Given the description of an element on the screen output the (x, y) to click on. 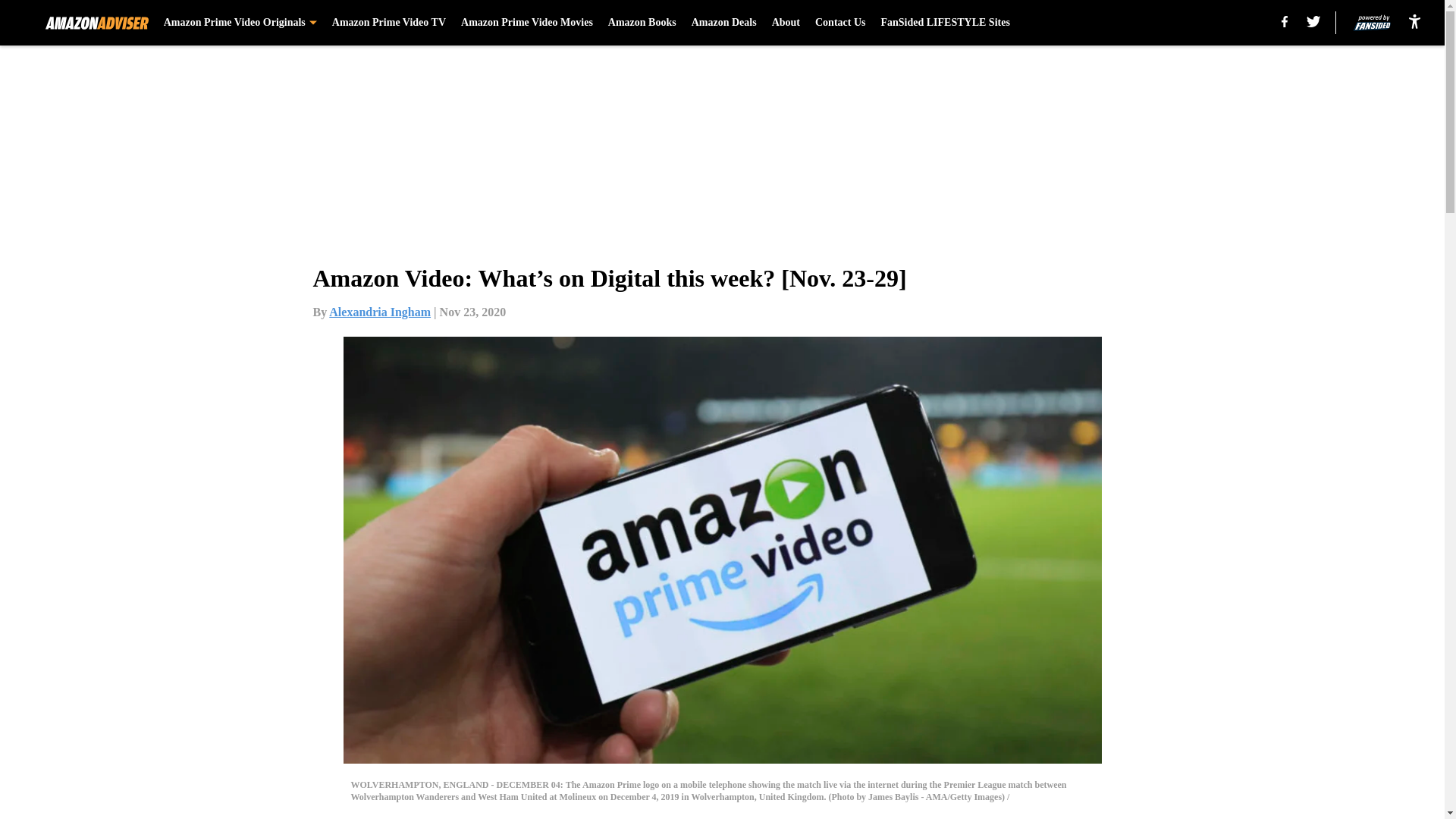
Alexandria Ingham (379, 311)
FanSided LIFESTYLE Sites (944, 22)
Amazon Books (642, 22)
Contact Us (840, 22)
Amazon Prime Video Movies (526, 22)
Amazon Prime Video TV (388, 22)
About (785, 22)
Amazon Deals (724, 22)
